Given the description of an element on the screen output the (x, y) to click on. 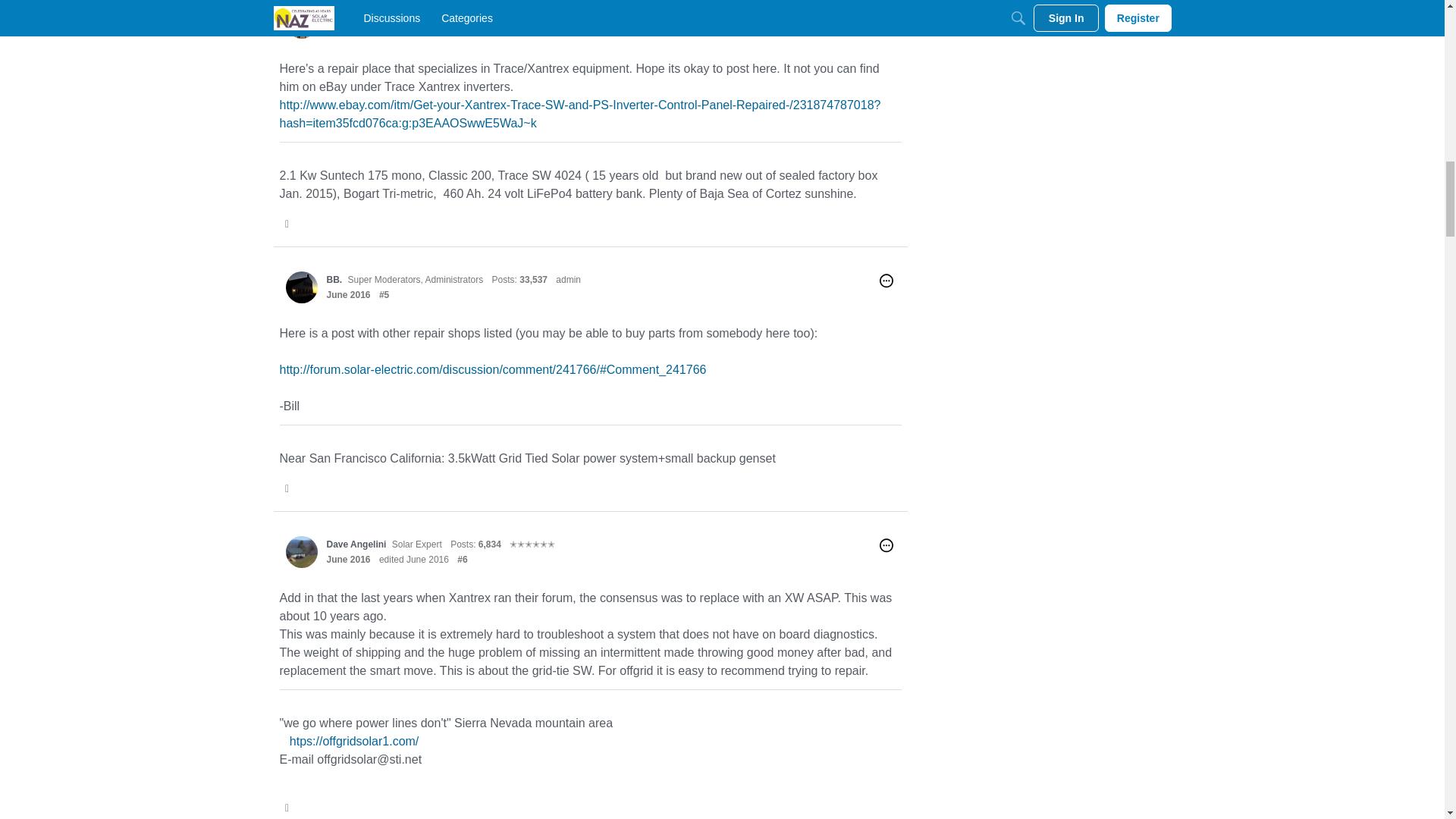
BB. (334, 279)
June 2016 (347, 29)
June 17, 2016 11:43AM (347, 29)
Level 5 (521, 14)
littleharbor2 (352, 14)
Share on Twitter (288, 223)
littleharbor2 (301, 21)
June 2016 (347, 294)
